Given the description of an element on the screen output the (x, y) to click on. 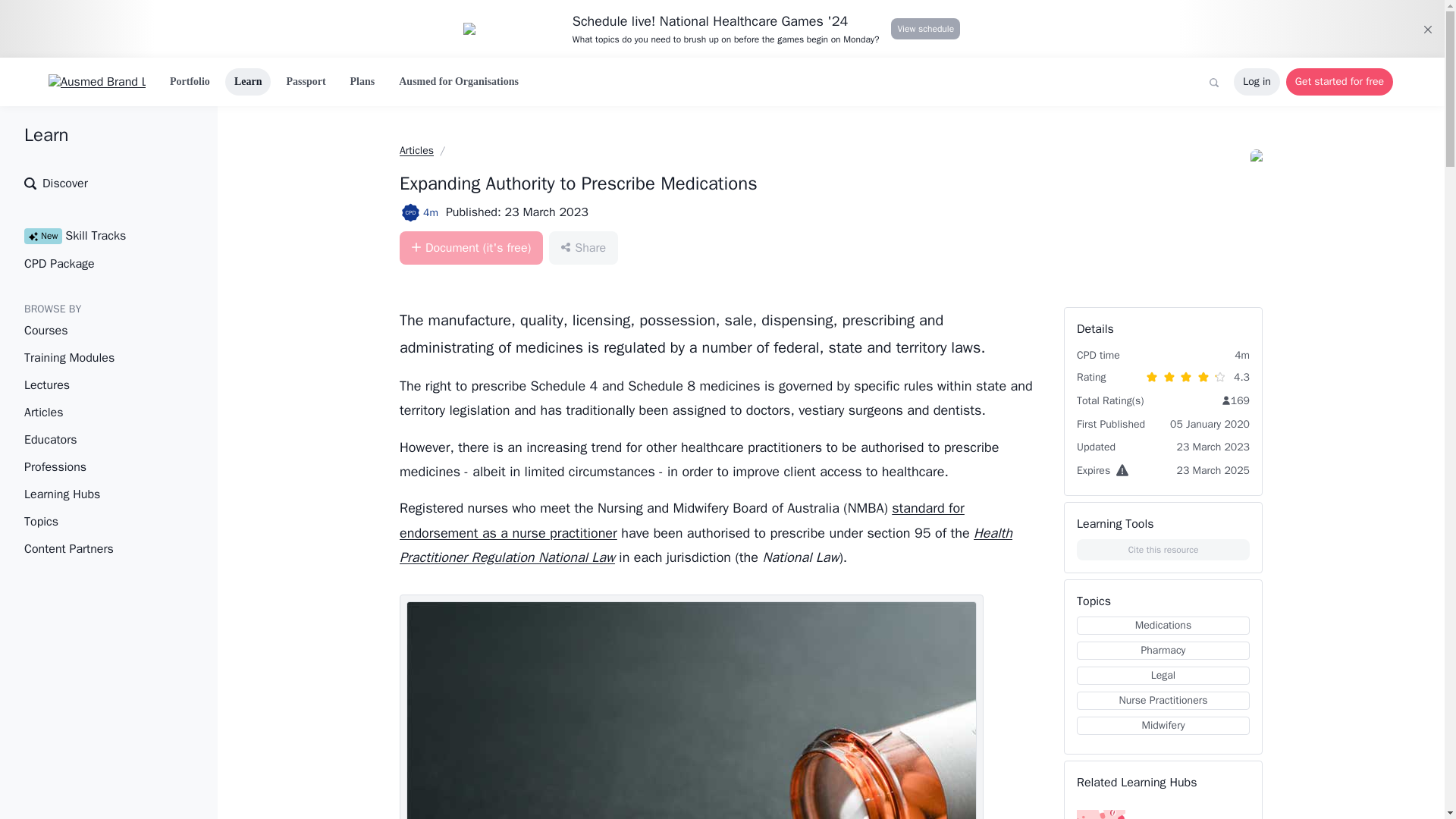
Articles (96, 411)
Topics (96, 521)
Discover (96, 235)
Health Practitioner Regulation National Law (96, 183)
Learning Hubs (704, 544)
Get started for free (96, 493)
Plans (1339, 81)
standard for endorsement as a nurse practitioner (362, 81)
Ausmed for Organisations (680, 519)
Educators (458, 81)
Articles (96, 439)
Share (415, 150)
View schedule (582, 247)
Training Modules (925, 28)
